Given the description of an element on the screen output the (x, y) to click on. 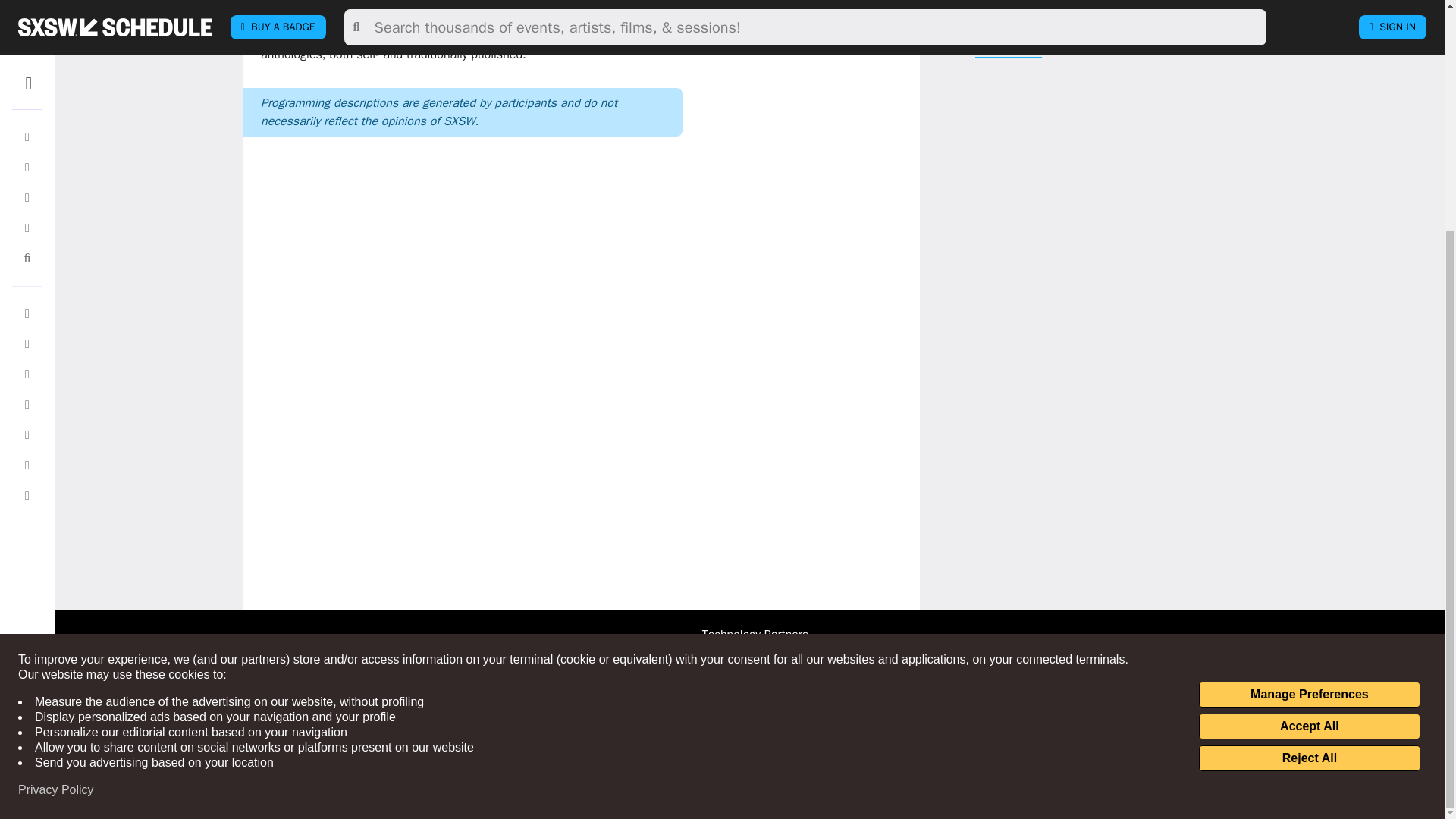
Privacy Policy (55, 477)
Accept All (1309, 413)
Reject All (1309, 445)
Manage Preferences (1309, 381)
